Given the description of an element on the screen output the (x, y) to click on. 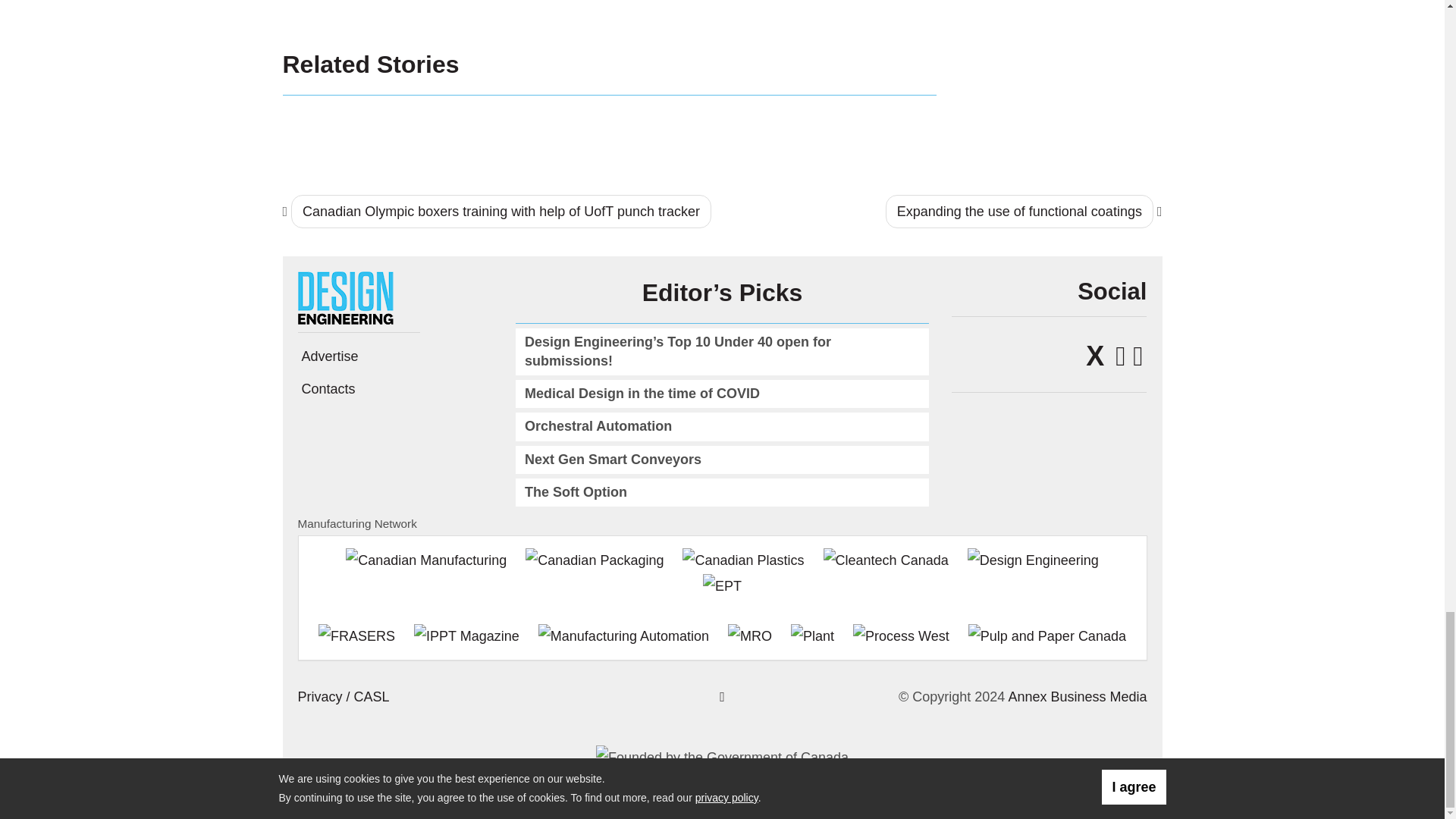
Annex Business Media (1077, 696)
Design Engineering (350, 296)
